Given the description of an element on the screen output the (x, y) to click on. 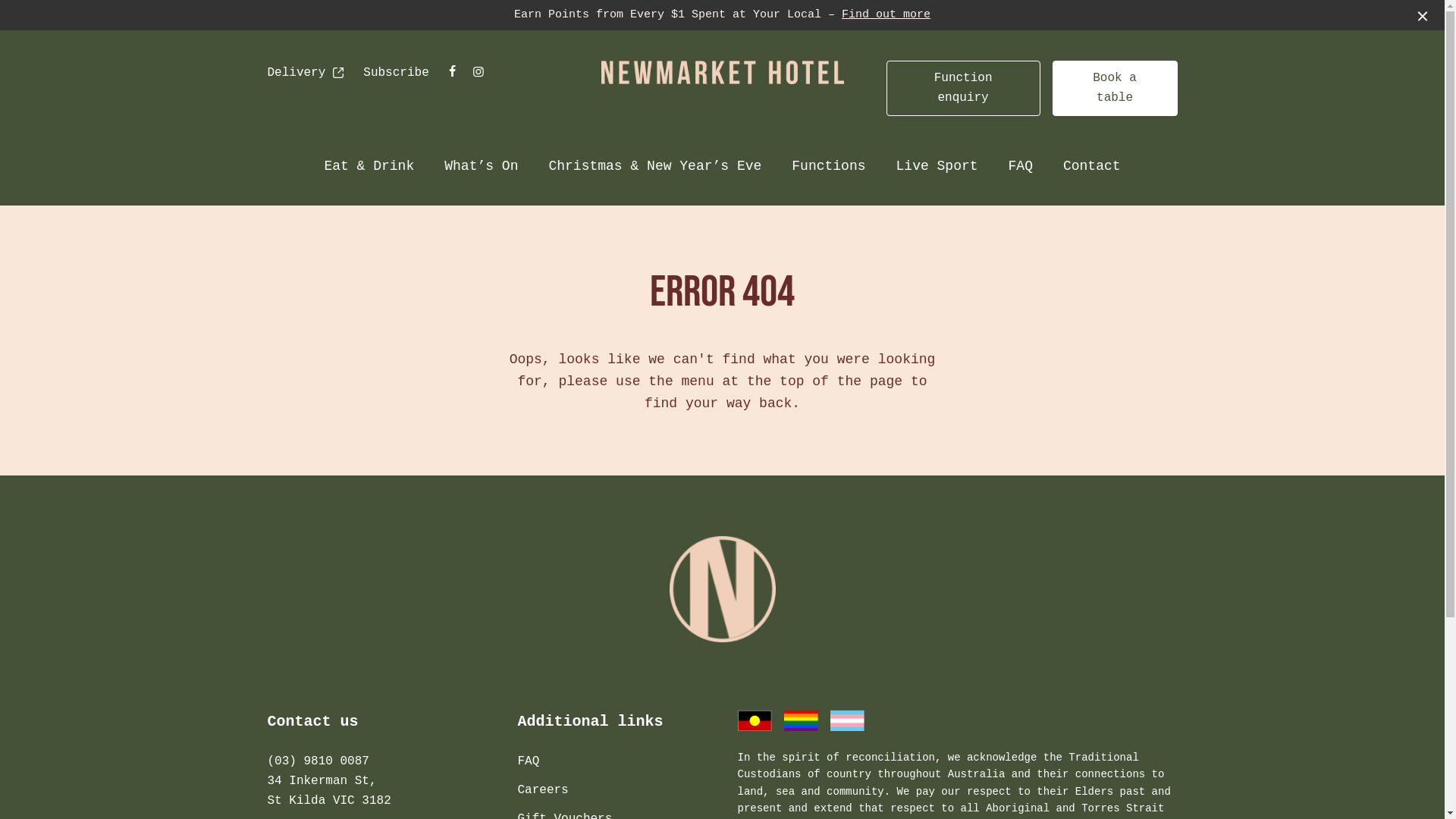
FAQ Element type: text (528, 761)
FAQ Element type: text (1020, 166)
(03) 9810 0087 Element type: text (317, 761)
Function enquiry Element type: text (962, 88)
Functions Element type: text (828, 166)
Live Sport Element type: text (937, 166)
Subscribe Element type: text (395, 72)
Find out more Element type: text (885, 14)
Eat & Drink Element type: text (368, 166)
Book a table Element type: text (1114, 88)
Contact Element type: text (1091, 166)
Careers Element type: text (542, 790)
Delivery Element type: text (305, 73)
34 Inkerman St,
St Kilda VIC 3182 Element type: text (328, 790)
